Given the description of an element on the screen output the (x, y) to click on. 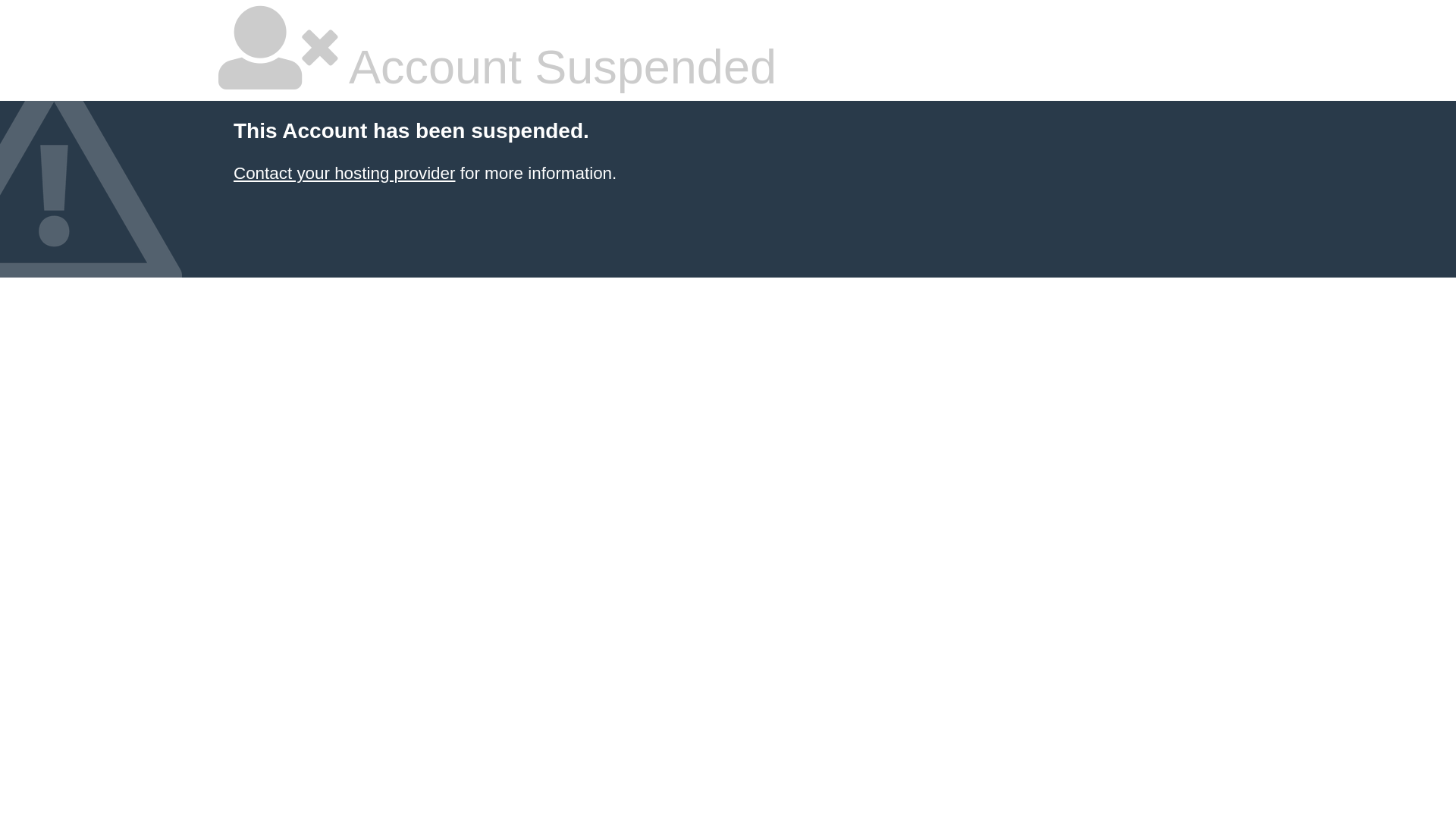
Contact your hosting provider Element type: text (344, 172)
